Given the description of an element on the screen output the (x, y) to click on. 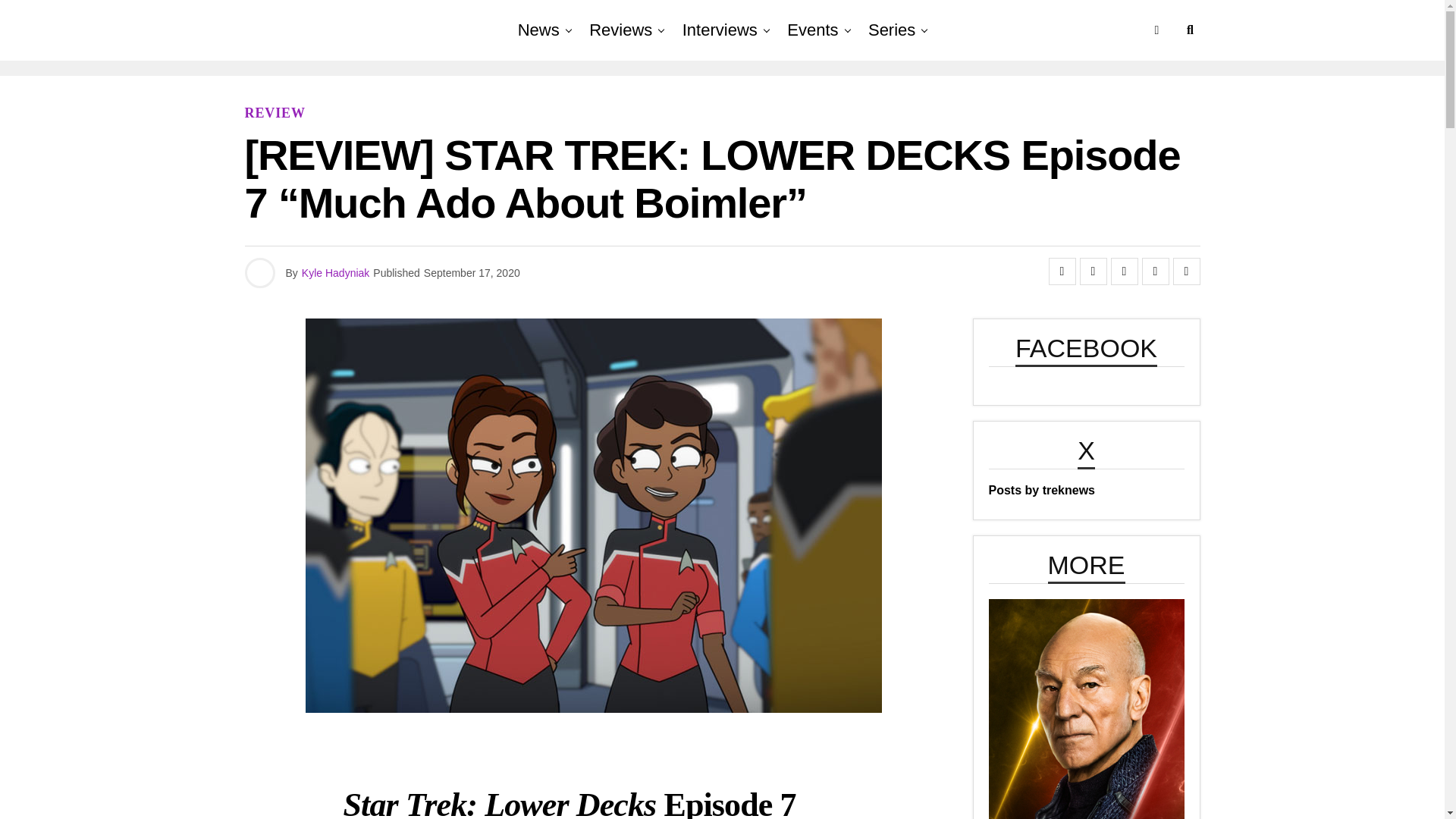
Tweet This Post (1093, 271)
Reviews (619, 30)
Events (811, 30)
Share on Flipboard (1123, 271)
News (539, 30)
Reviews (619, 30)
Share on Facebook (1061, 271)
Interviews (720, 30)
Posts by Kyle Hadyniak (335, 272)
